Given the description of an element on the screen output the (x, y) to click on. 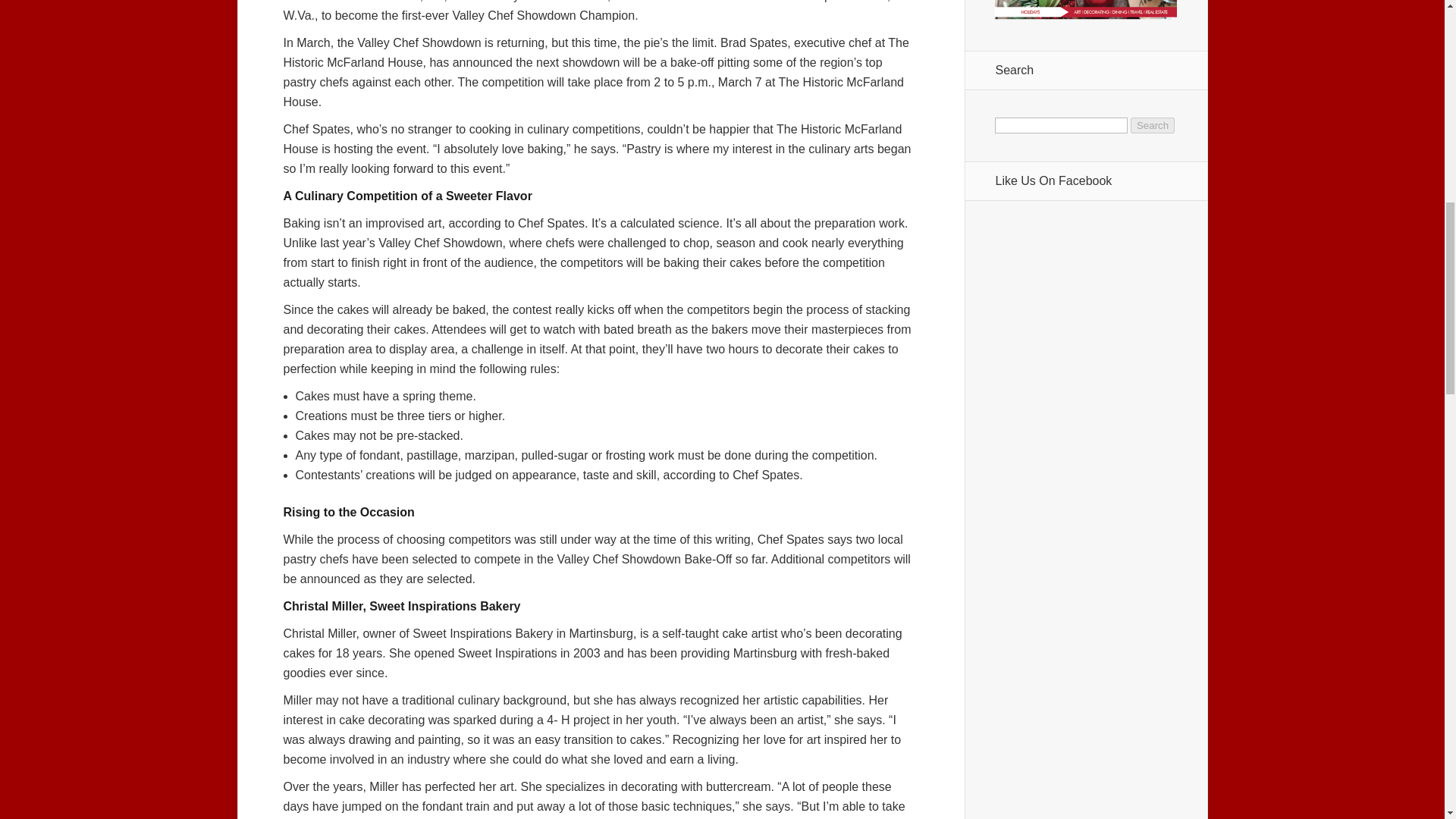
advertisement (1085, 12)
Search (1152, 125)
Search (1152, 125)
